Given the description of an element on the screen output the (x, y) to click on. 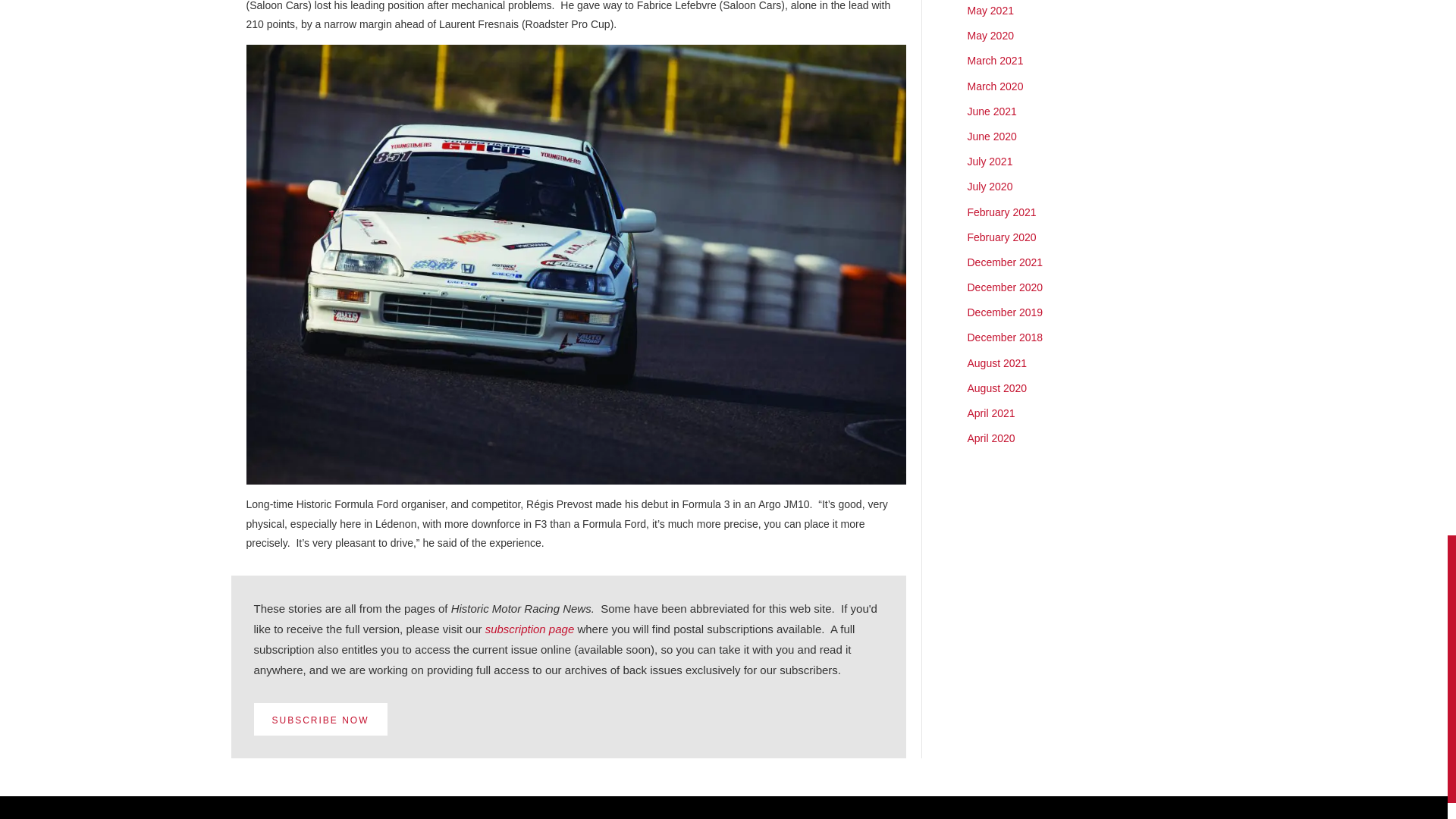
SUBSCRIBE NOW (320, 718)
subscription page (529, 628)
